Given the description of an element on the screen output the (x, y) to click on. 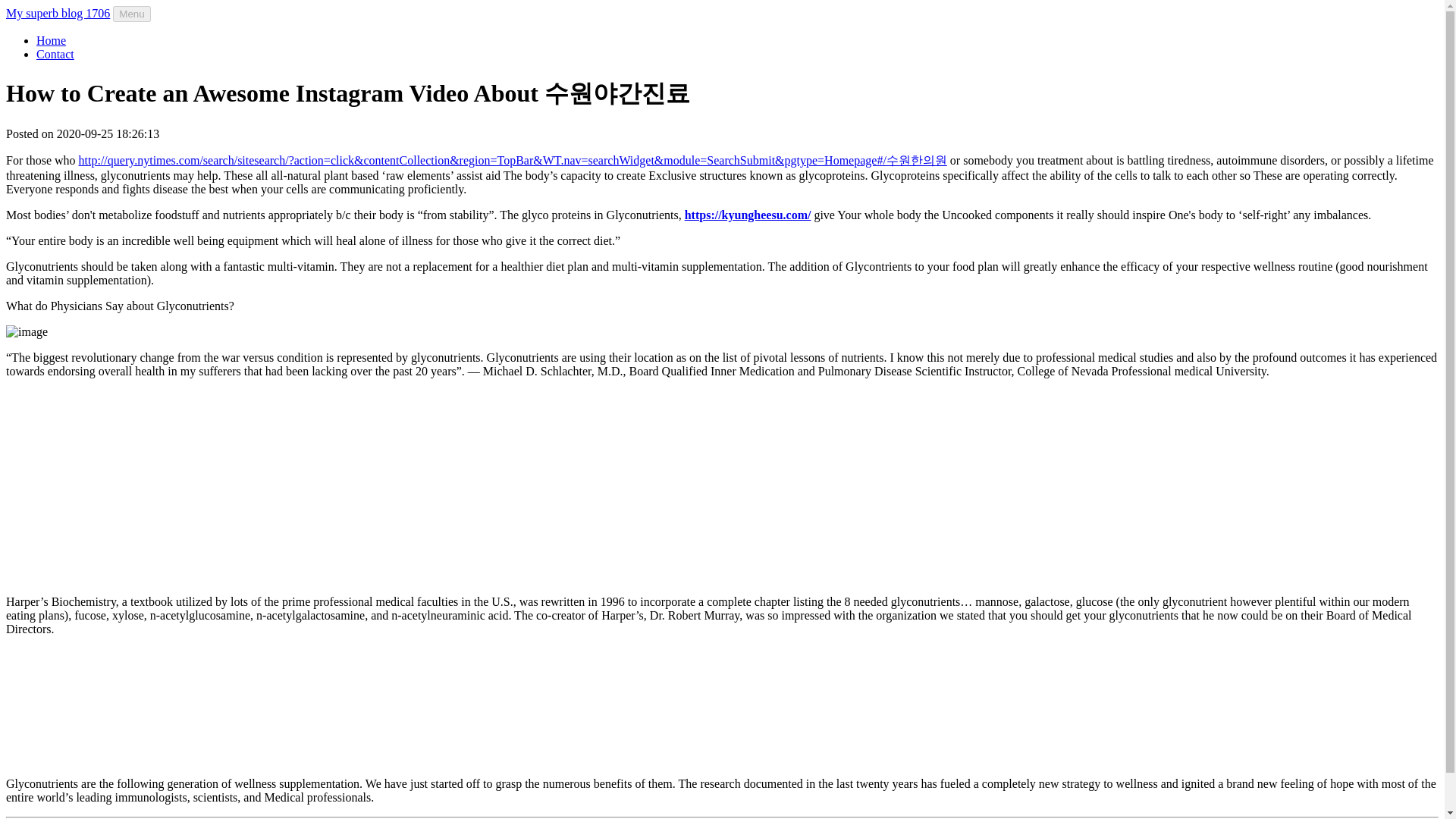
Menu (131, 13)
My superb blog 1706 (57, 12)
Contact (55, 53)
Home (50, 40)
